Given the description of an element on the screen output the (x, y) to click on. 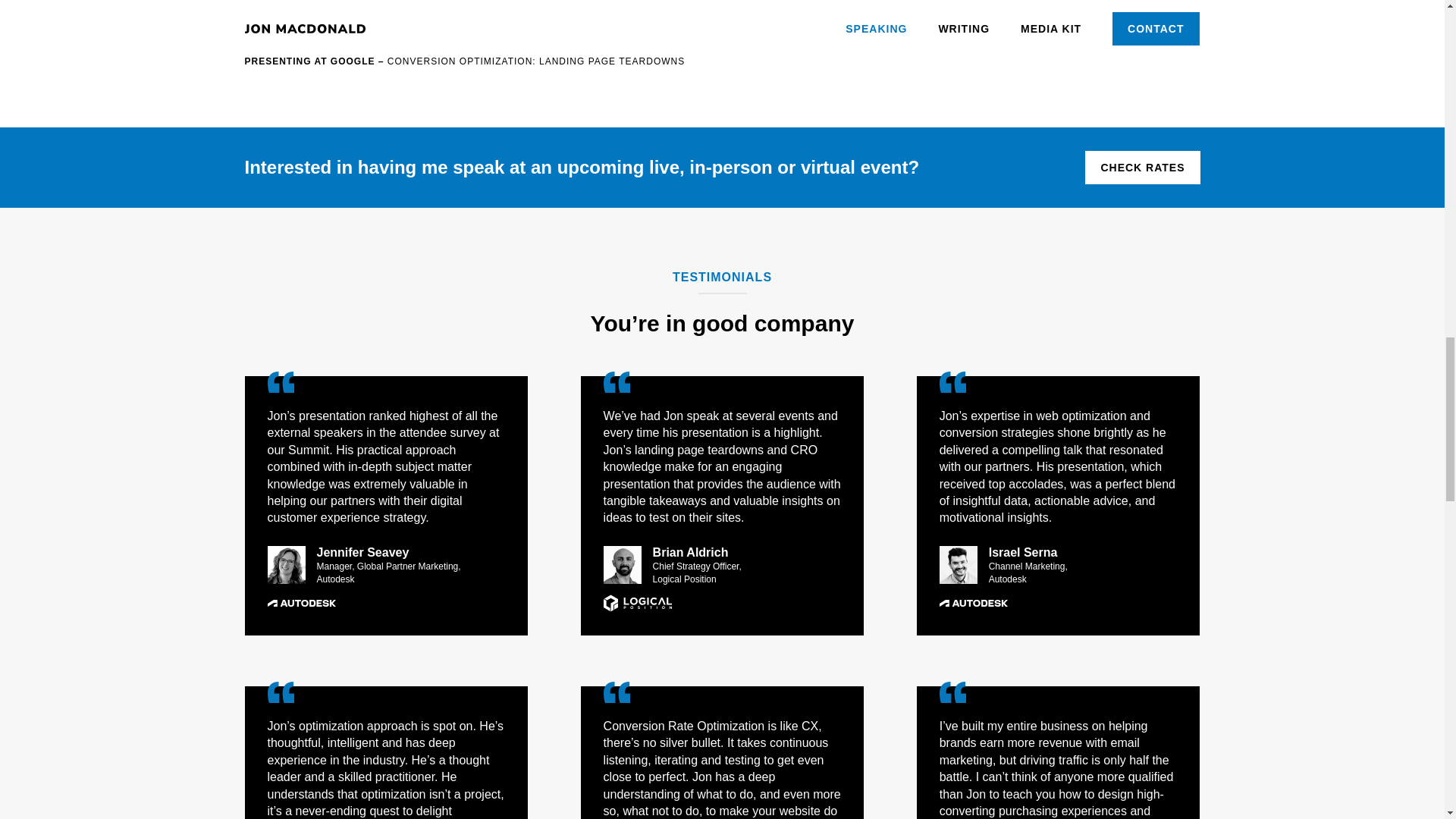
logo-logical-position-w (637, 602)
logo-autodesk-w (973, 602)
CHECK RATES (1141, 167)
logo-autodesk-w (300, 602)
